Given the description of an element on the screen output the (x, y) to click on. 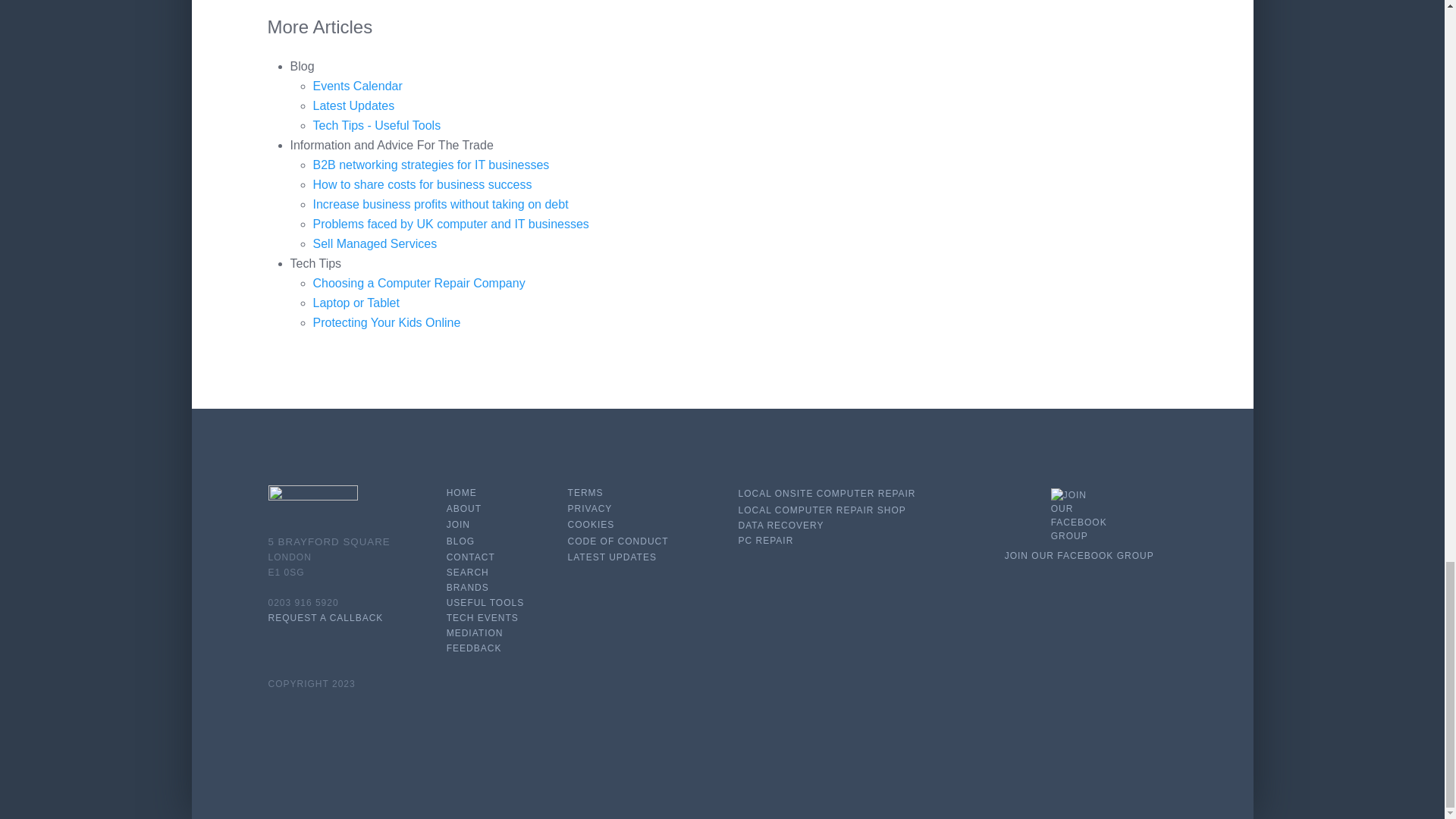
JOIN (458, 524)
Tech Tips - Useful Tools (377, 124)
Problems faced by UK computer and IT businesses (450, 223)
BLOG (460, 541)
Call me back (325, 617)
Latest Updates (353, 105)
ABOUT (463, 508)
Sell Managed Services (374, 243)
CONTACT (470, 557)
SEARCH (467, 572)
CODE OF CONDUCT (617, 541)
Join our facebook group (1078, 516)
Events Calendar (357, 85)
Protecting Your Kids Online (386, 322)
Increase business profits without taking on debt (440, 204)
